Given the description of an element on the screen output the (x, y) to click on. 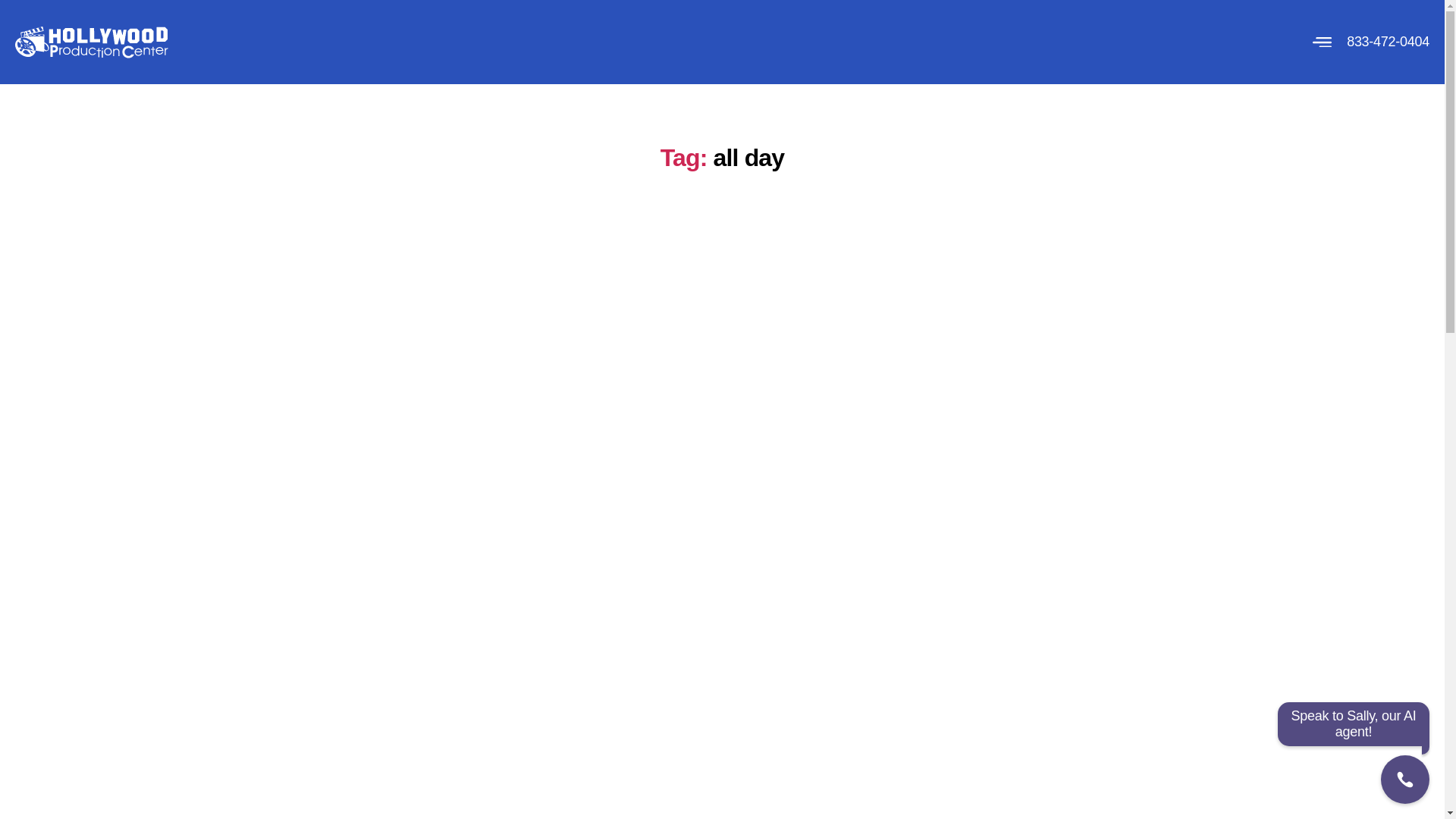
Billboard Music Awards 2015 (721, 280)
833-472-0404 (1387, 41)
